Given the description of an element on the screen output the (x, y) to click on. 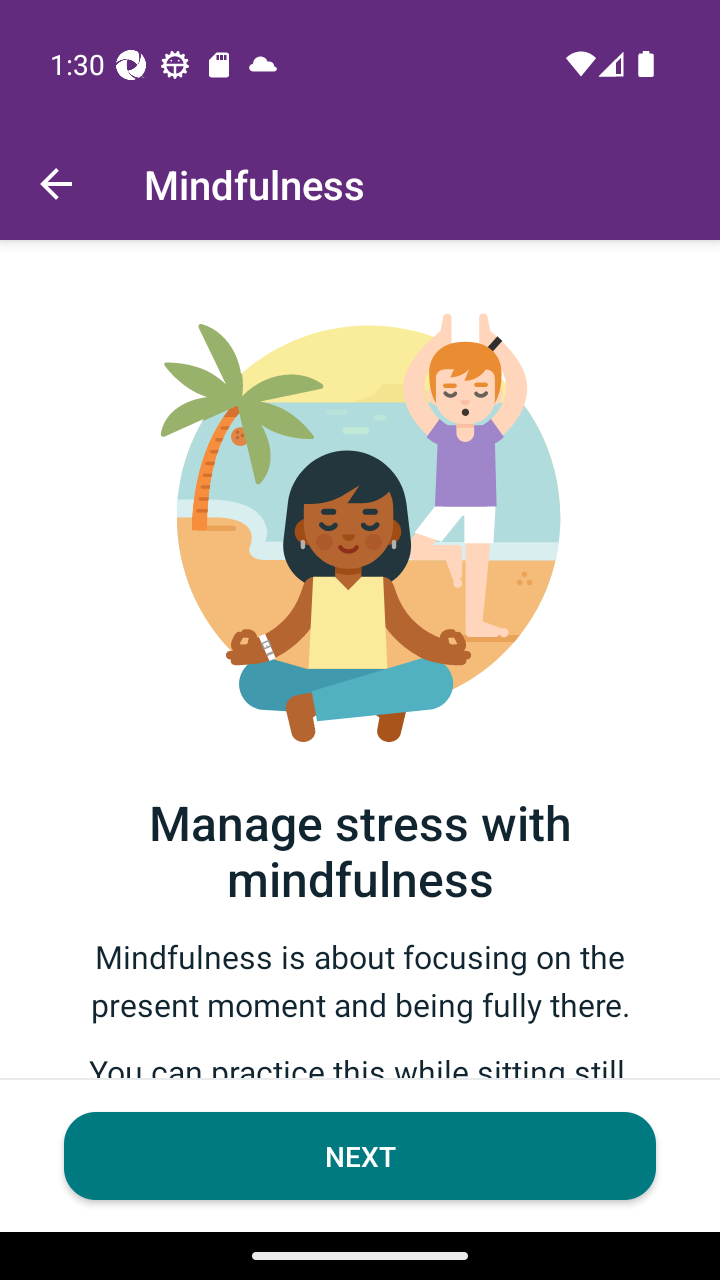
Navigate up (56, 184)
NEXT (359, 1156)
